Given the description of an element on the screen output the (x, y) to click on. 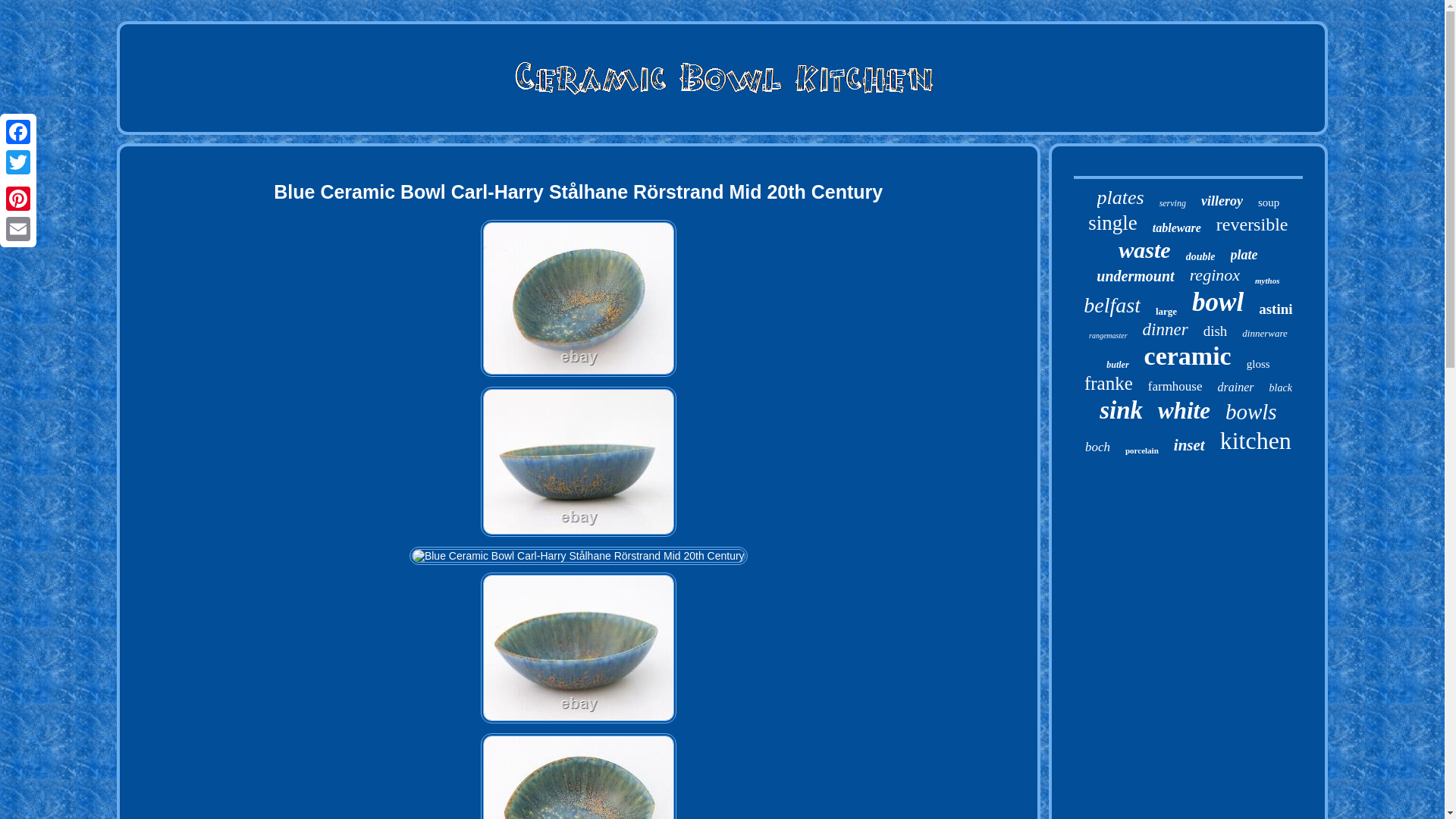
franke (1108, 383)
butler (1117, 365)
soup (1268, 202)
plates (1120, 197)
bowl (1217, 302)
astini (1275, 309)
belfast (1111, 305)
large (1166, 311)
single (1112, 223)
villeroy (1222, 201)
